Given the description of an element on the screen output the (x, y) to click on. 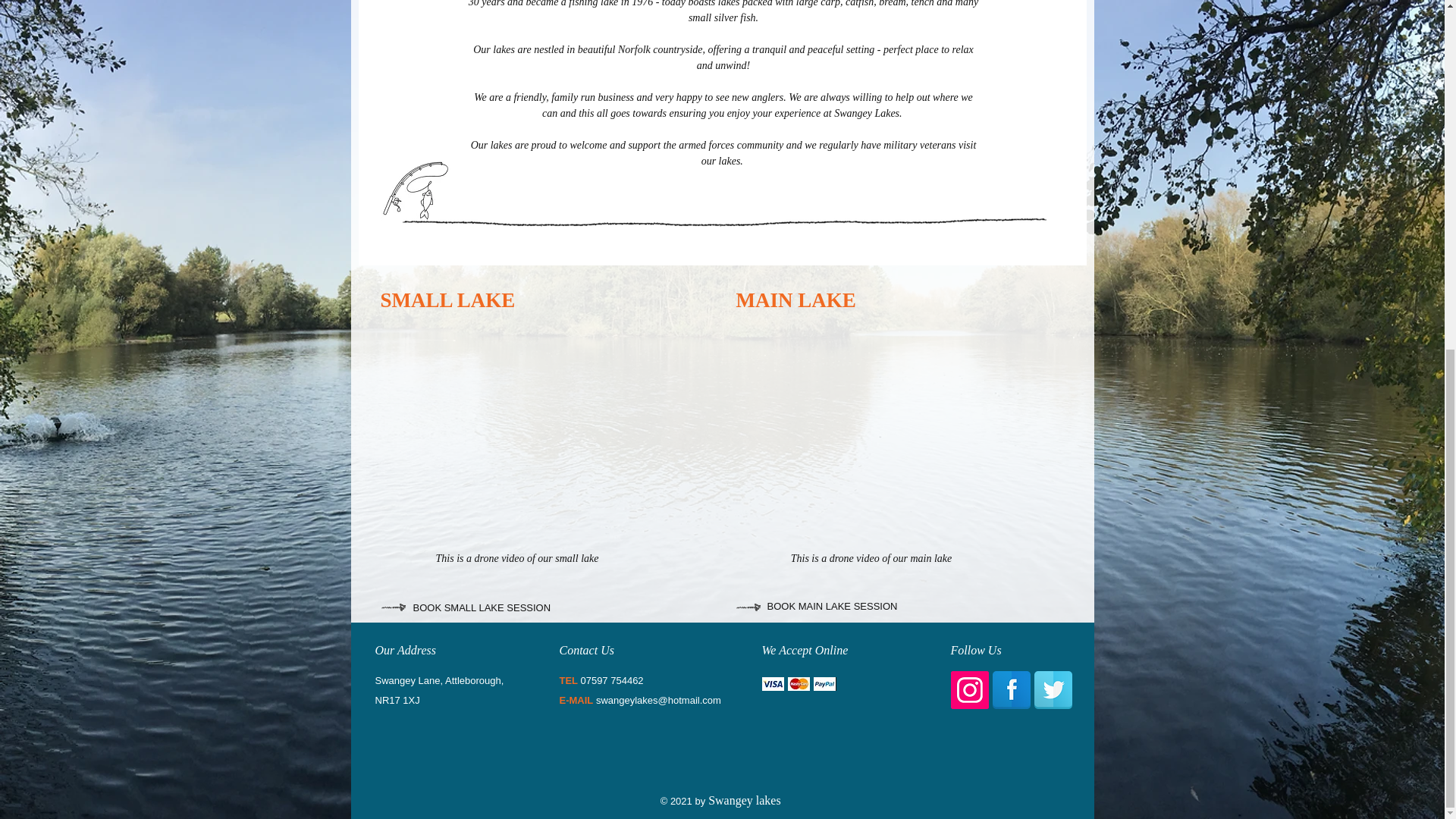
BOOK MAIN LAKE SESSION (832, 606)
BOOK SMALL LAKE SESSION (481, 608)
External Facebook (545, 438)
